Given the description of an element on the screen output the (x, y) to click on. 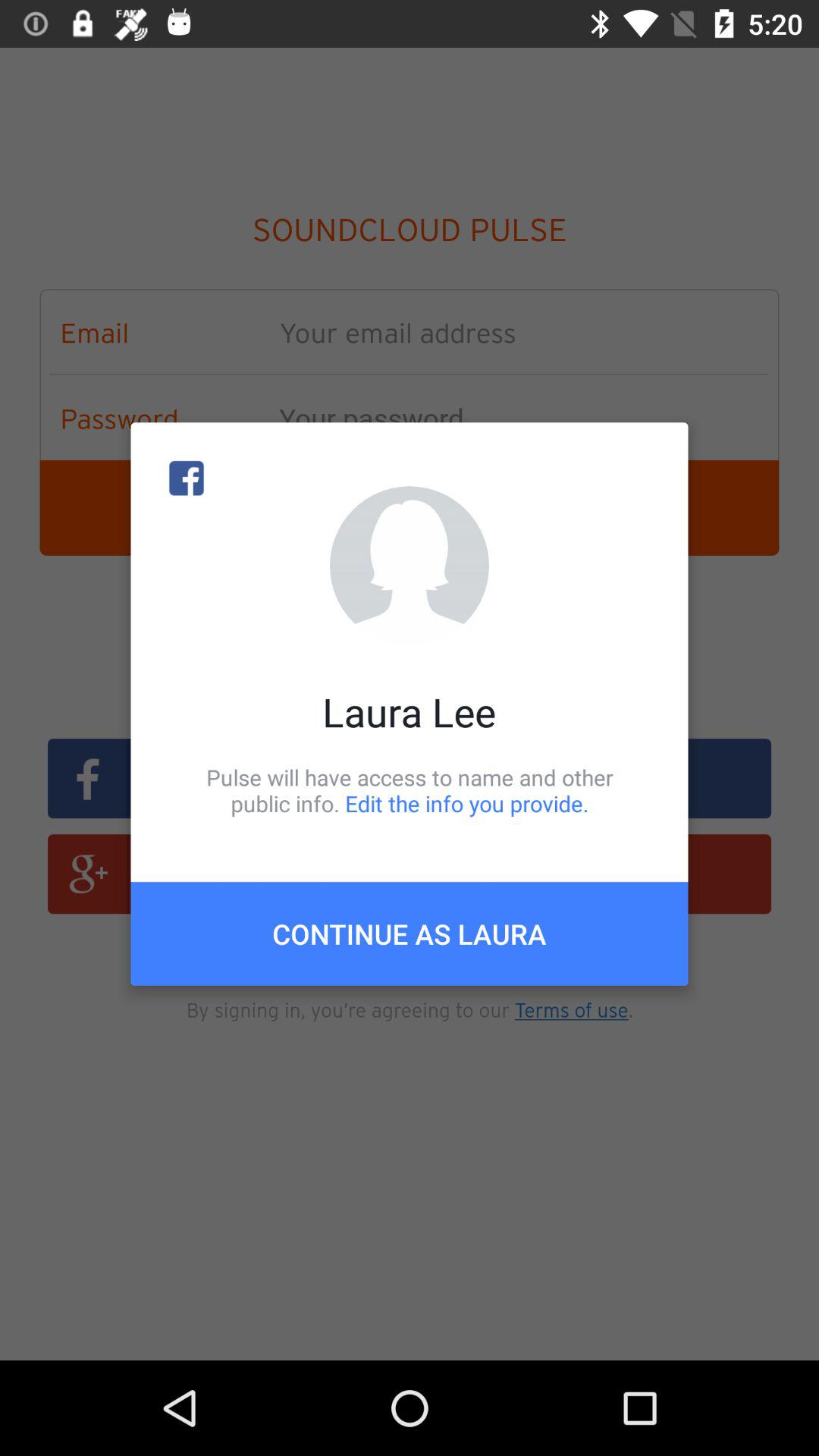
click pulse will have (409, 790)
